Given the description of an element on the screen output the (x, y) to click on. 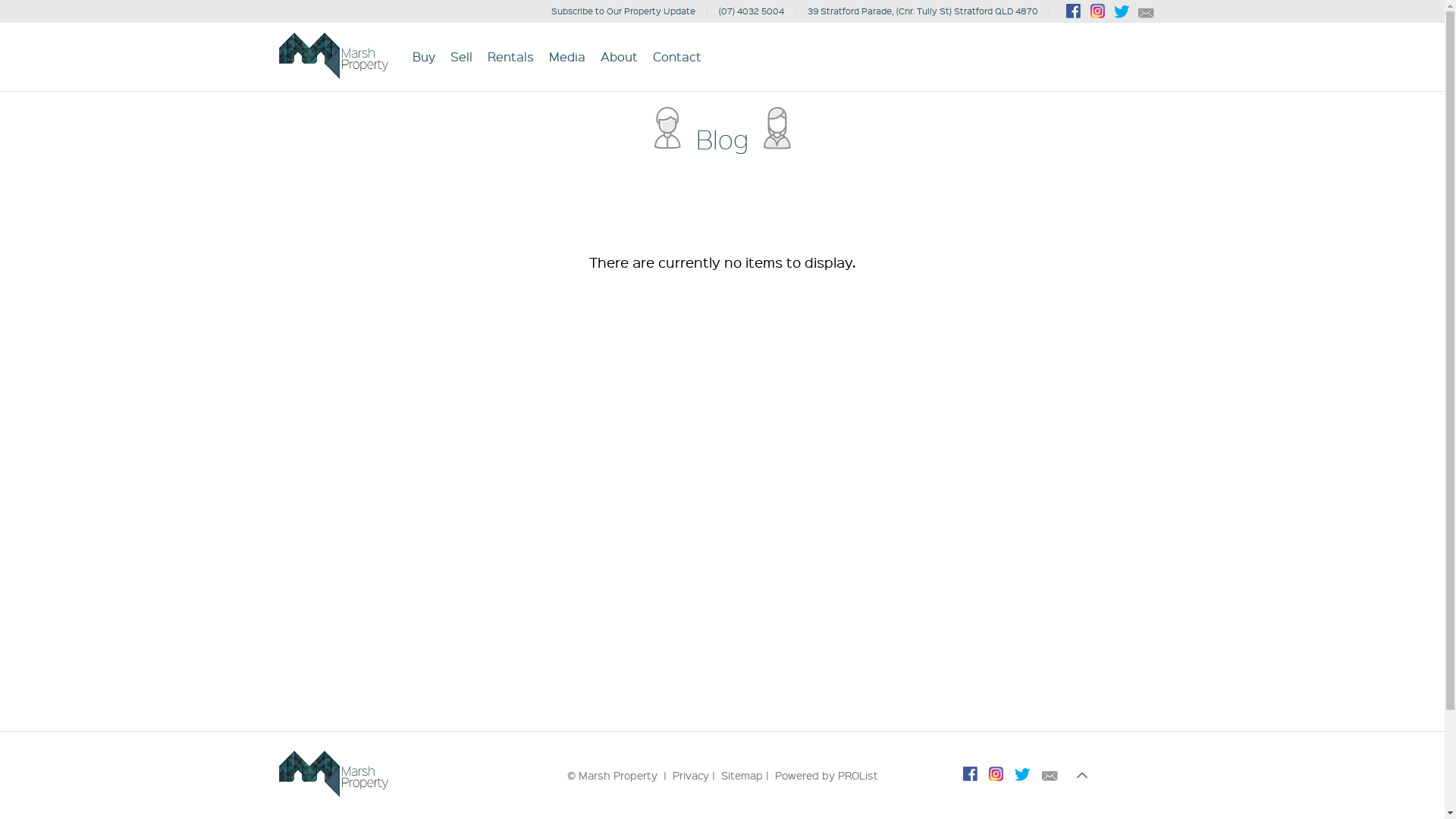
About Element type: text (618, 56)
Contact Element type: text (676, 56)
Media Element type: text (567, 56)
Privacy Element type: text (689, 774)
Sitemap Element type: text (741, 774)
Sell Element type: text (461, 56)
Subscribe to Our Property Update Element type: text (623, 10)
Buy Element type: text (423, 56)
Rentals Element type: text (510, 56)
Powered by PROList Element type: text (826, 774)
39 Stratford Parade, (Cnr. Tully St) Stratford QLD 4870 Element type: text (922, 10)
(07) 4032 5004 Element type: text (751, 10)
